Given the description of an element on the screen output the (x, y) to click on. 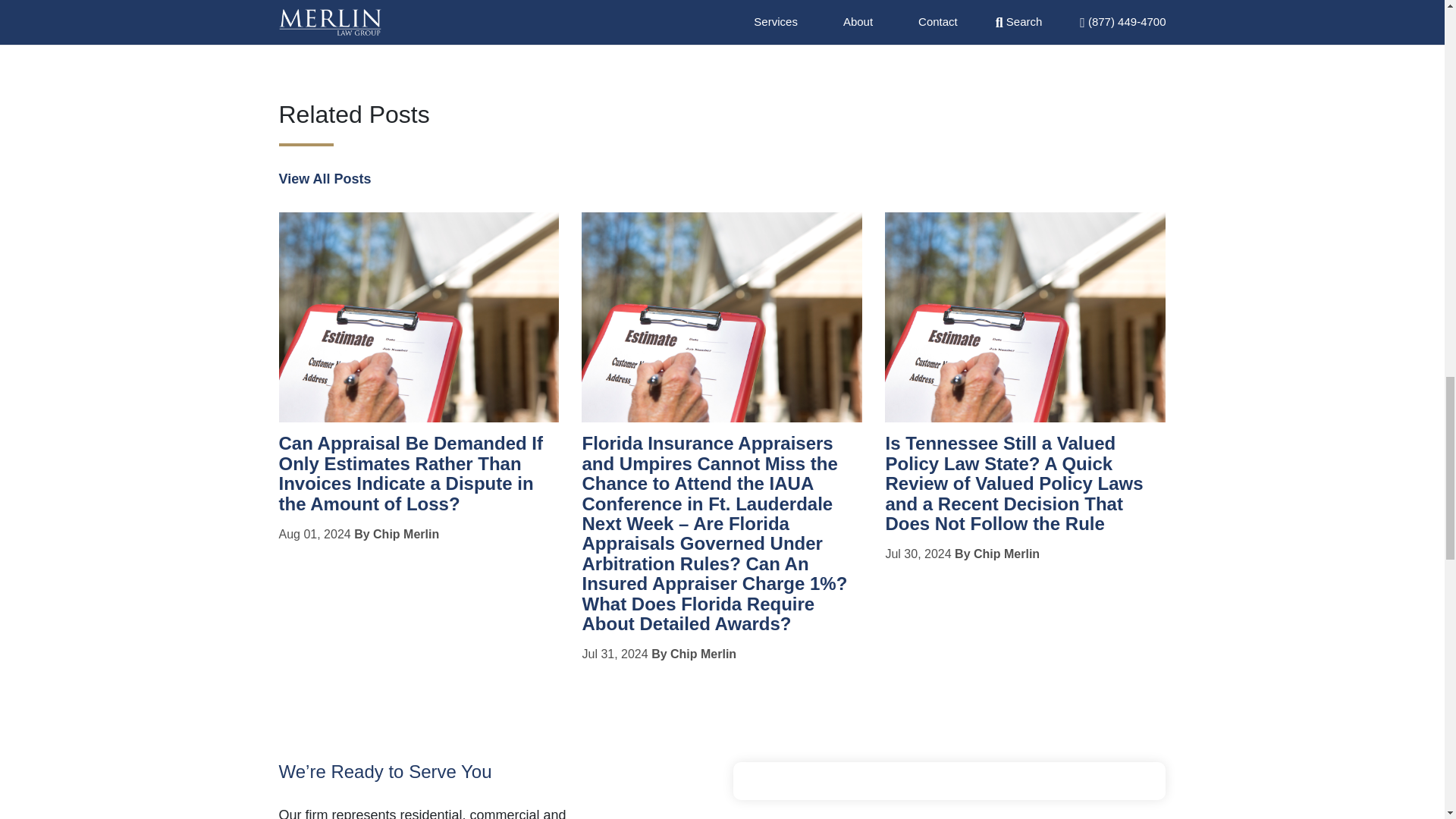
View All Posts (325, 178)
By Chip Merlin (396, 533)
By Chip Merlin (997, 553)
By Chip Merlin (693, 653)
